Given the description of an element on the screen output the (x, y) to click on. 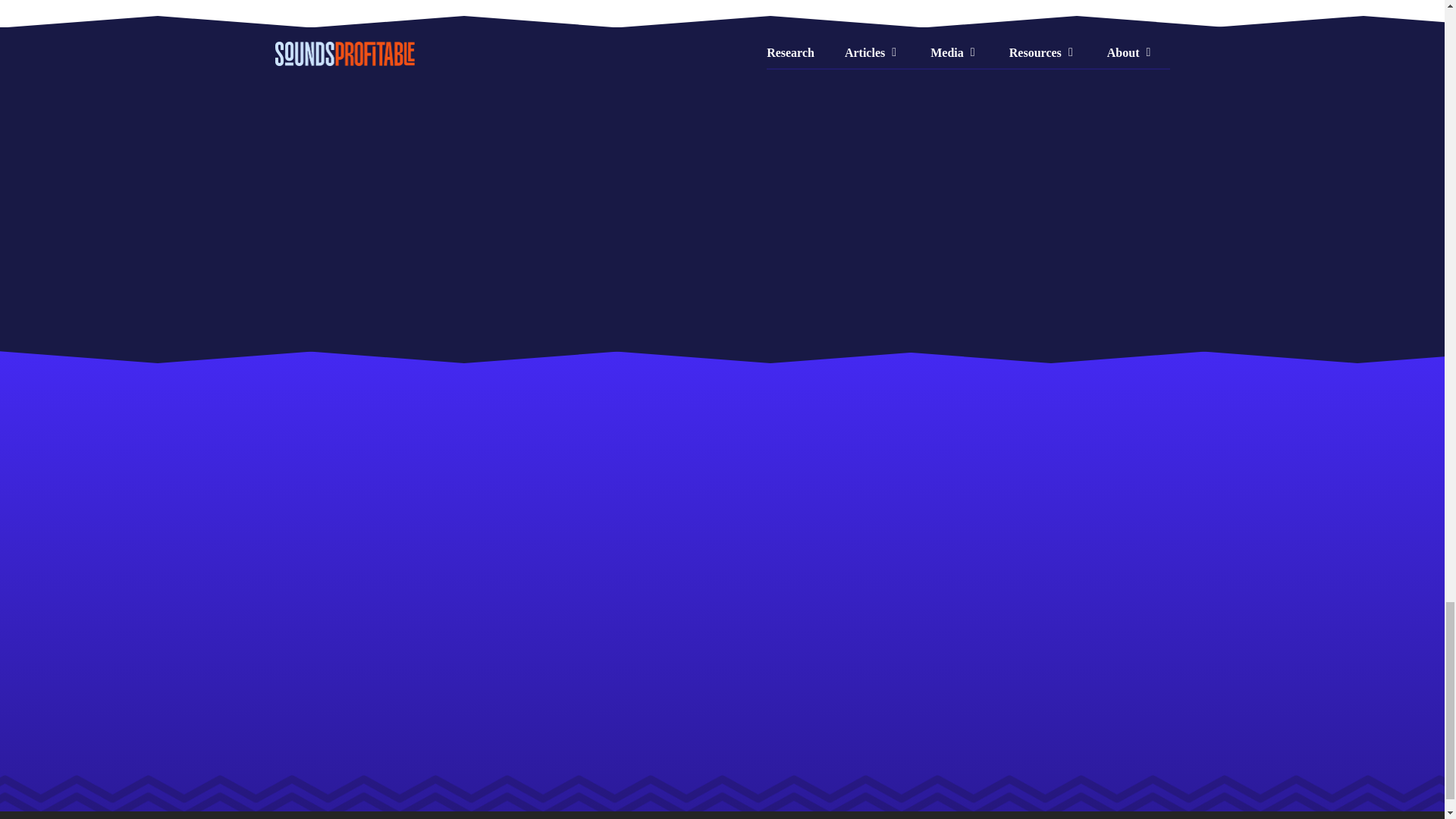
Sign up (1102, 127)
